Given the description of an element on the screen output the (x, y) to click on. 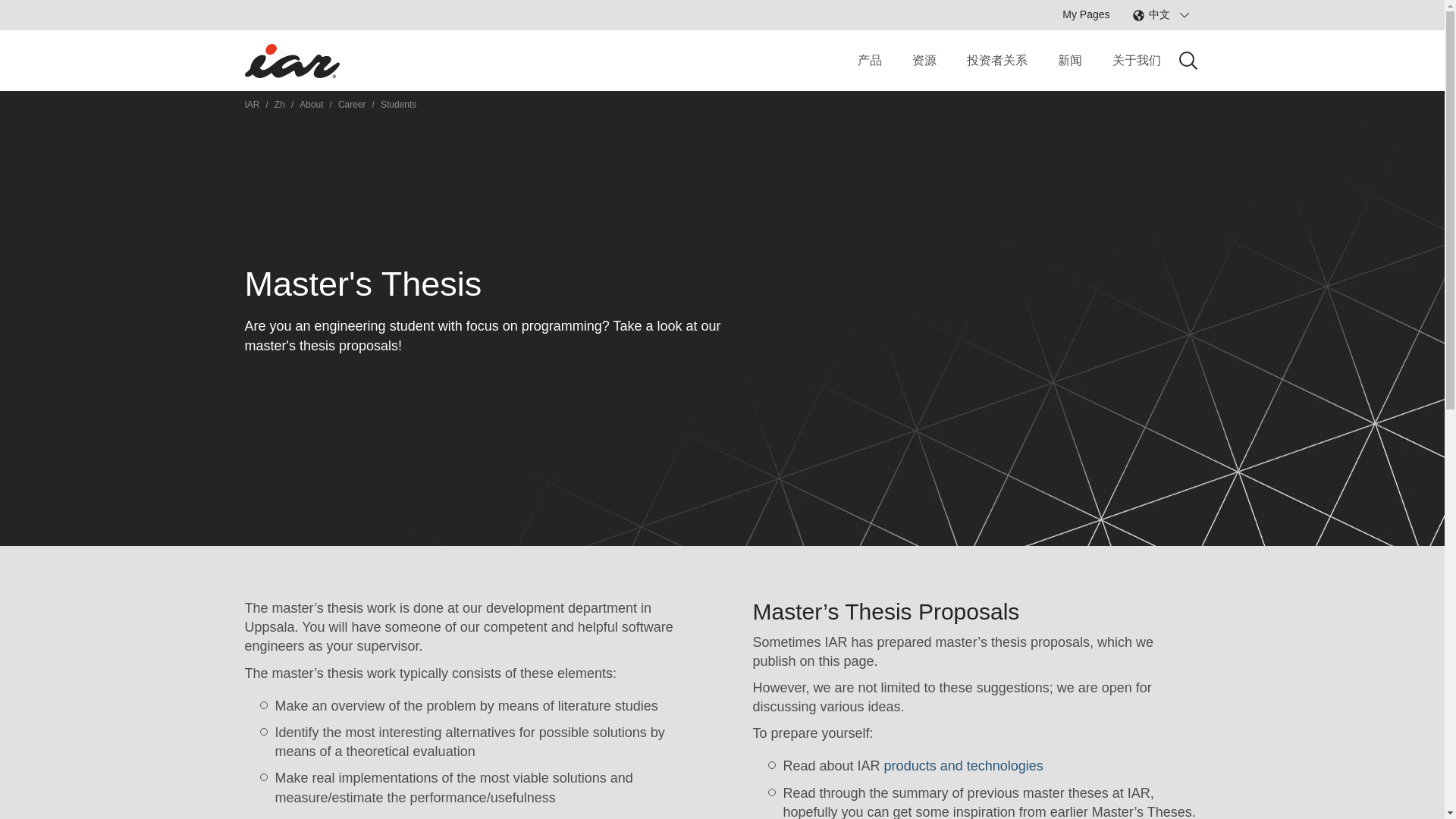
My Pages (1085, 14)
